Given the description of an element on the screen output the (x, y) to click on. 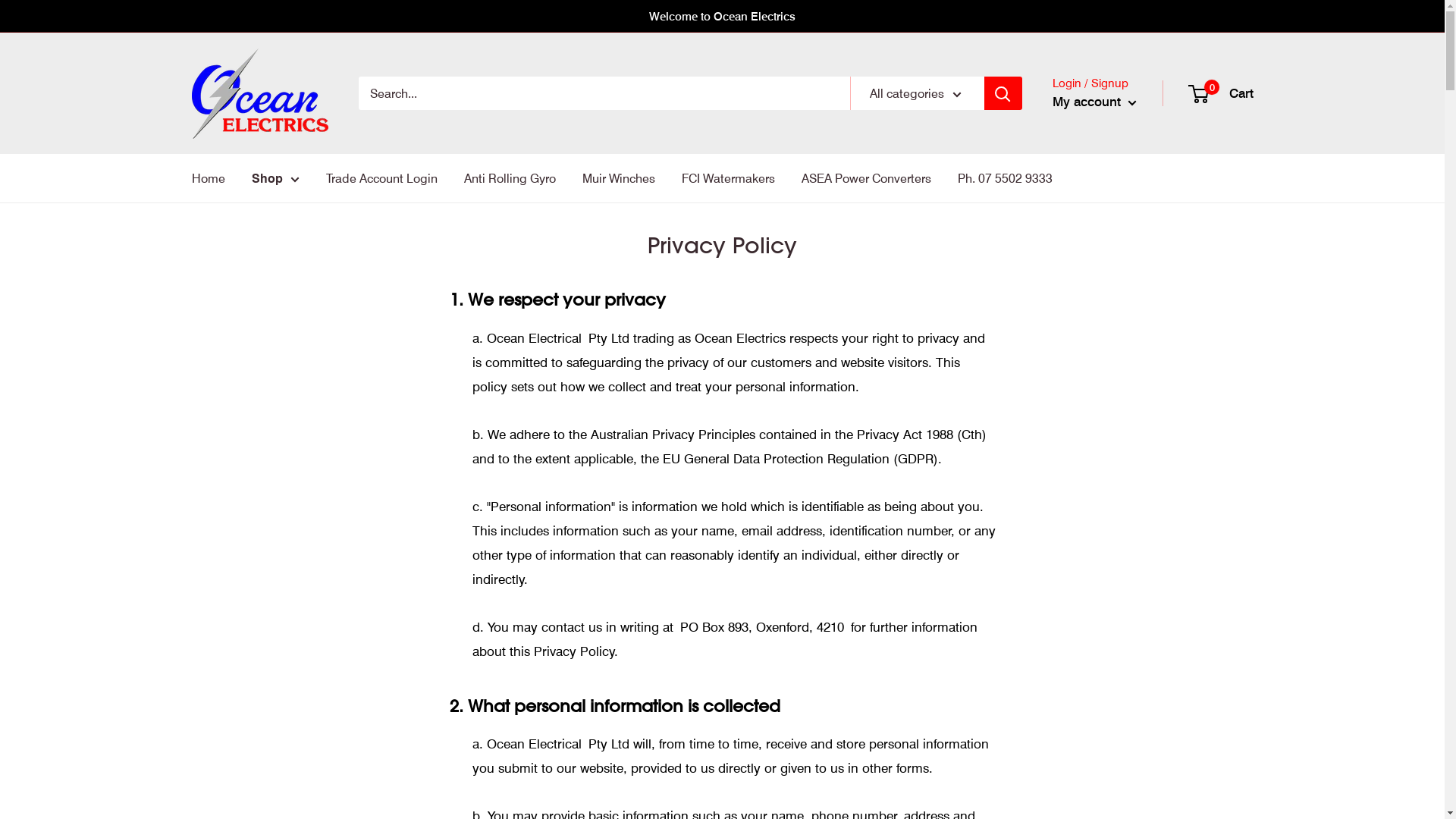
FCI Watermakers Element type: text (727, 177)
Home Element type: text (207, 177)
Ph. 07 5502 9333 Element type: text (1004, 177)
Trade Account Login Element type: text (381, 177)
Shop Element type: text (275, 177)
Anti Rolling Gyro Element type: text (509, 177)
0
Cart Element type: text (1220, 93)
ASEA Power Converters Element type: text (865, 177)
Muir Winches Element type: text (618, 177)
My account Element type: text (1094, 101)
